Given the description of an element on the screen output the (x, y) to click on. 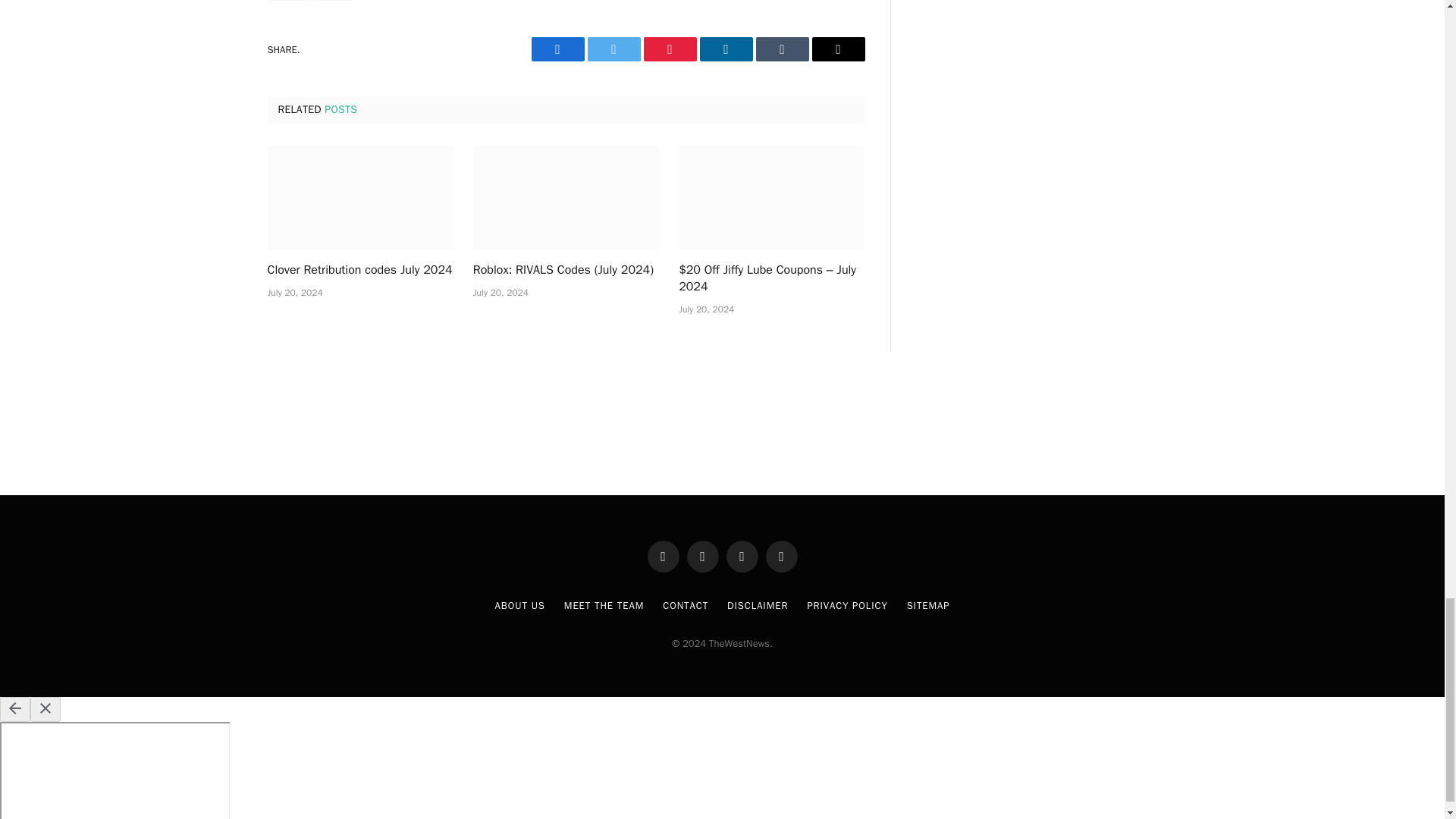
Guide (287, 0)
